Given the description of an element on the screen output the (x, y) to click on. 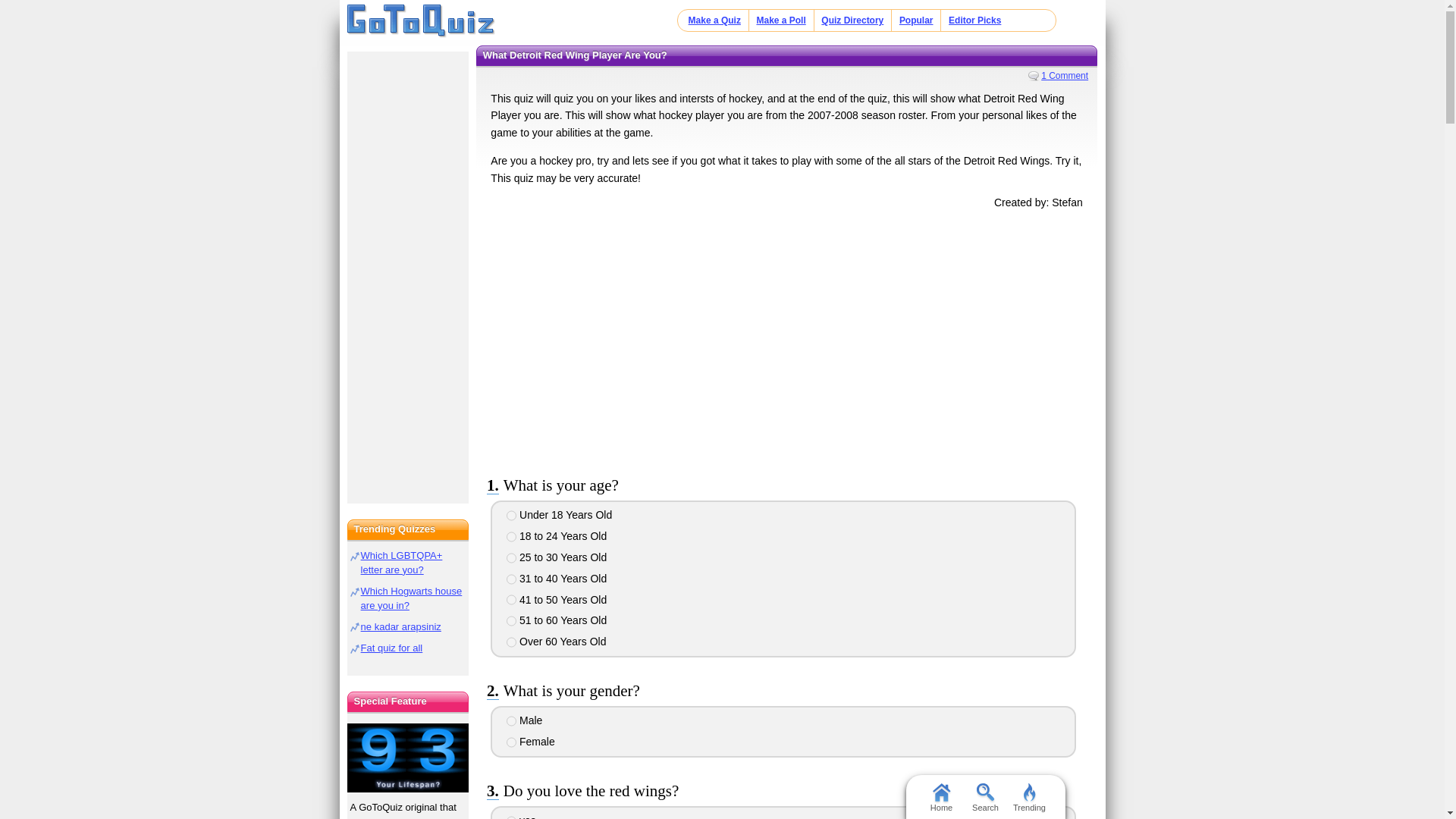
Editor Picks (975, 20)
Make a Poll (780, 20)
3 (511, 557)
1 (511, 720)
1 (511, 515)
1 Comment (1057, 75)
ne kadar arapsiniz (401, 626)
1 (511, 817)
6 (511, 620)
Quiz Directory (852, 20)
